Given the description of an element on the screen output the (x, y) to click on. 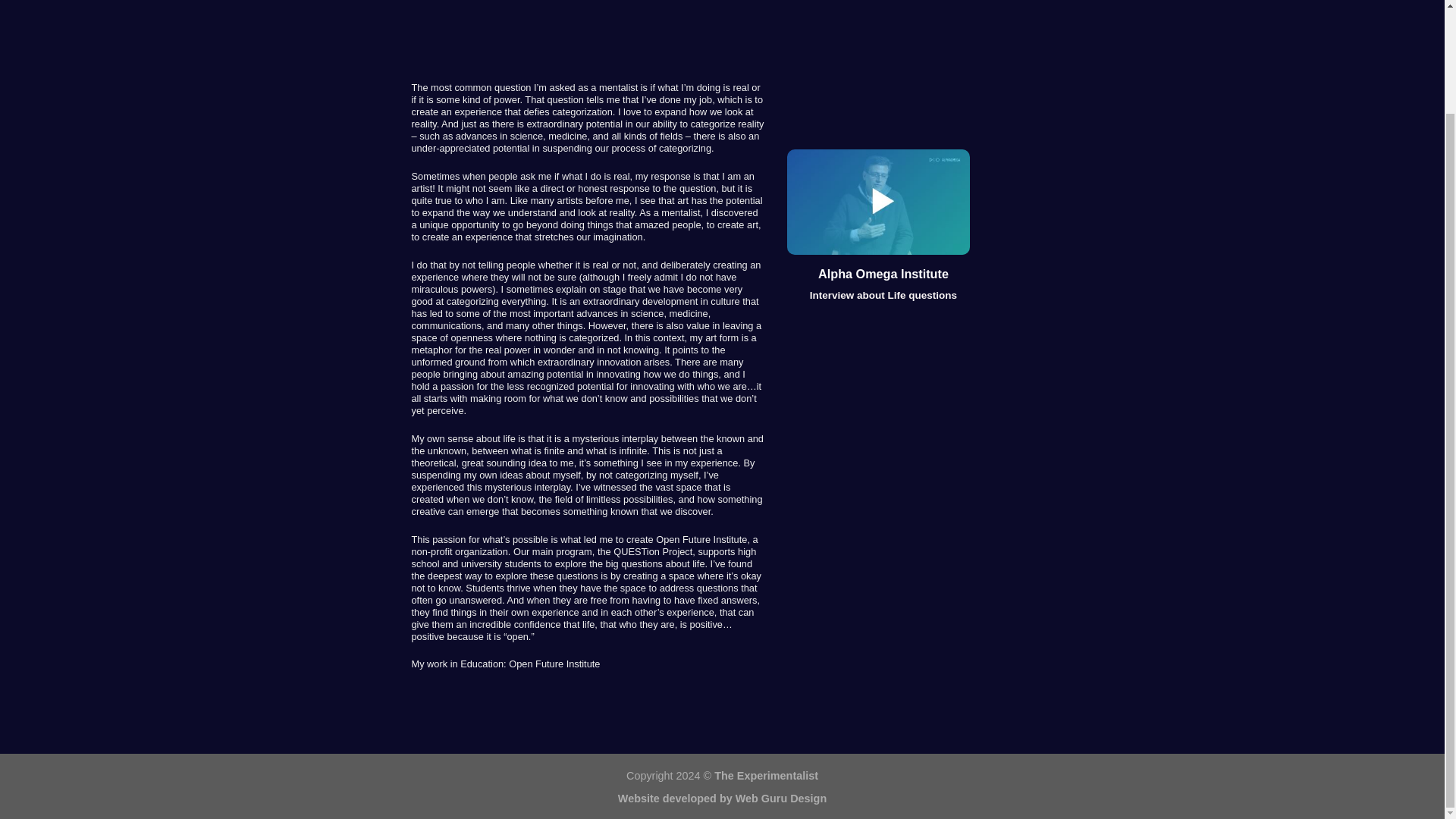
Web Guru Design (781, 798)
Open Future Institute (553, 663)
Philosophy (878, 201)
